Given the description of an element on the screen output the (x, y) to click on. 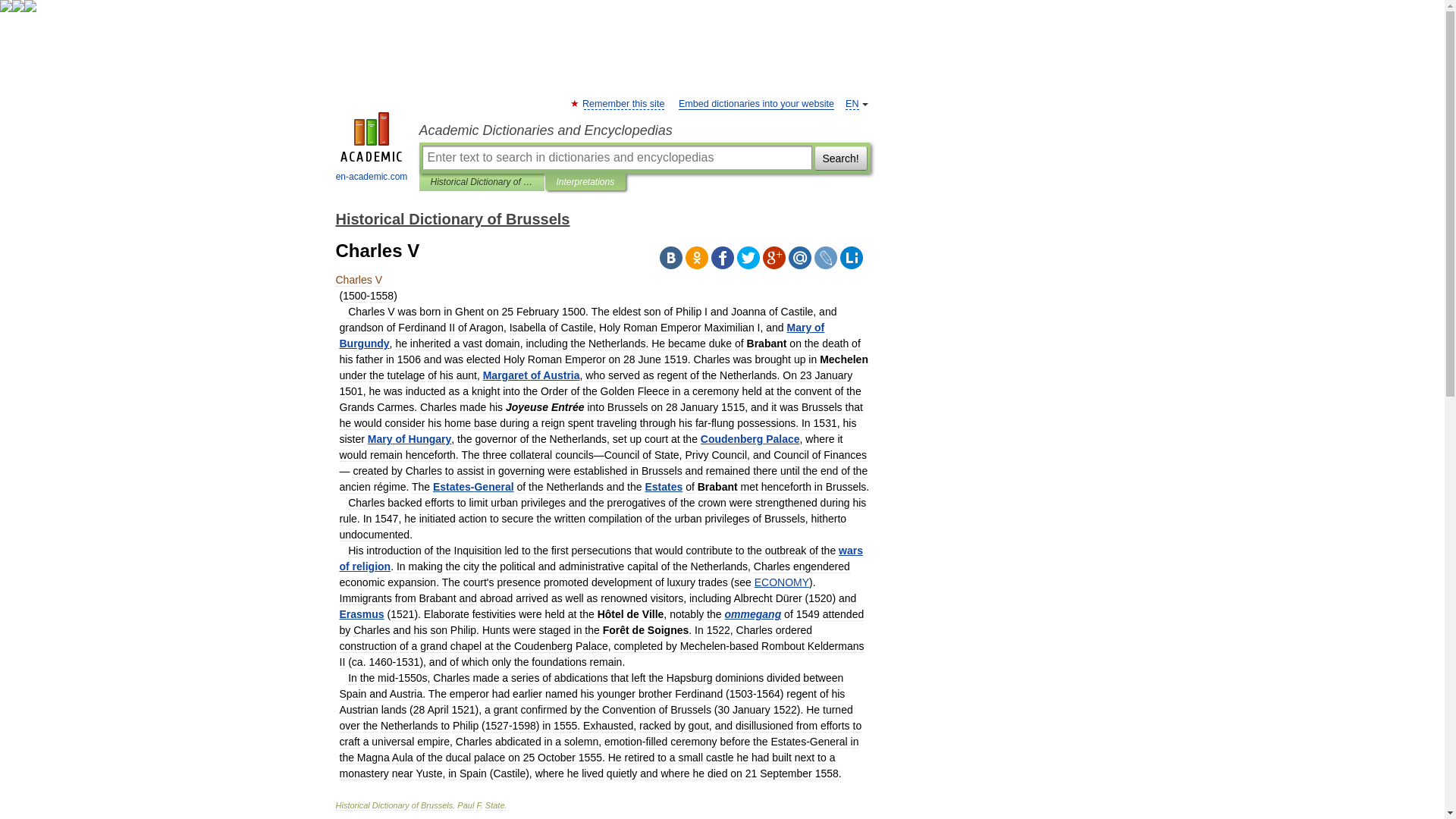
Interpretations (585, 181)
Erasmus (361, 613)
Historical Dictionary of Brussels (481, 181)
Mary of Burgundy (582, 335)
Remember this site (623, 103)
Historical Dictionary of Brussels (451, 218)
Margaret of Austria (531, 375)
Enter text to search in dictionaries and encyclopedias (616, 157)
Embed dictionaries into your website (756, 103)
Estates-General (472, 486)
